Given the description of an element on the screen output the (x, y) to click on. 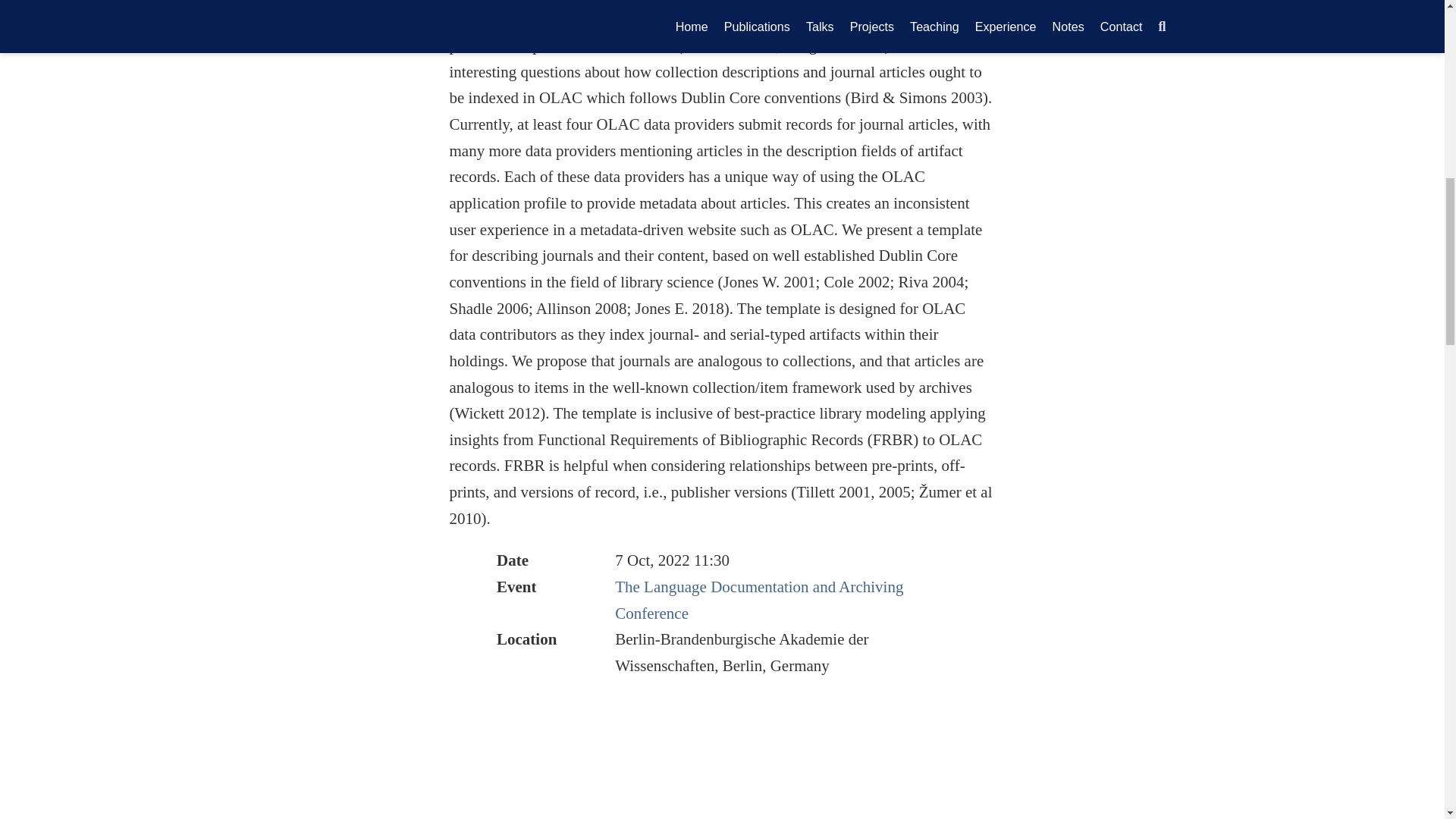
The Language Documentation and Archiving Conference (758, 600)
YouTube Video (721, 768)
